Given the description of an element on the screen output the (x, y) to click on. 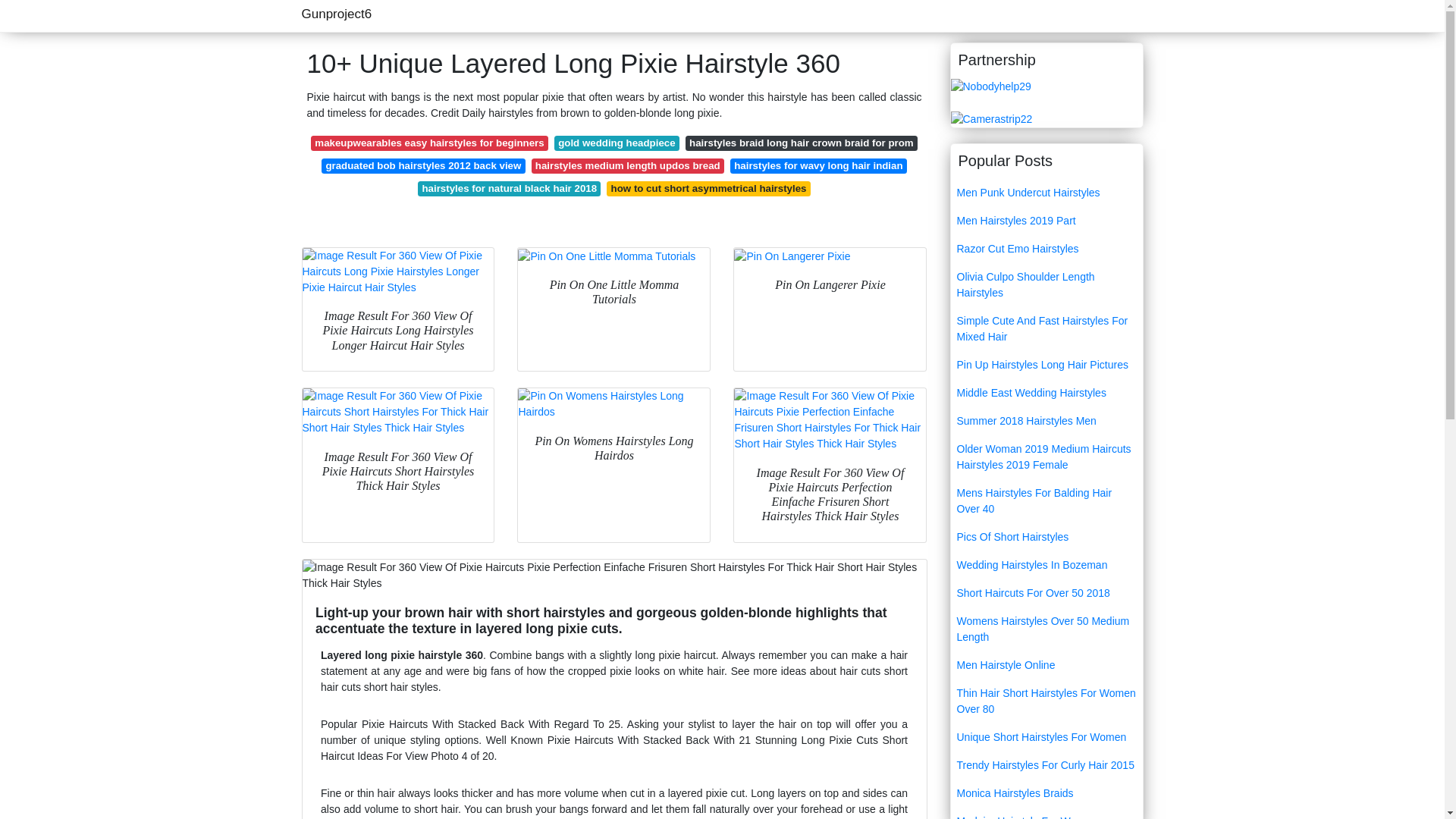
Gunproject6 (336, 13)
hairstyles braid long hair crown braid for prom (801, 142)
Men Hairstyles 2019 Part (1046, 221)
makeupwearables easy hairstyles for beginners (429, 142)
Summer 2018 Hairstyles Men (1046, 420)
Men Punk Undercut Hairstyles (1046, 193)
Womens Hairstyles Over 50 Medium Length (1046, 629)
Pin Up Hairstyles Long Hair Pictures (1046, 365)
Middle East Wedding Hairstyles (1046, 393)
hairstyles medium length updos bread (627, 165)
gold wedding headpiece (616, 142)
Razor Cut Emo Hairstyles (1046, 248)
Pics Of Short Hairstyles (1046, 537)
Camerastrip22 (991, 118)
how to cut short asymmetrical hairstyles (708, 188)
